Given the description of an element on the screen output the (x, y) to click on. 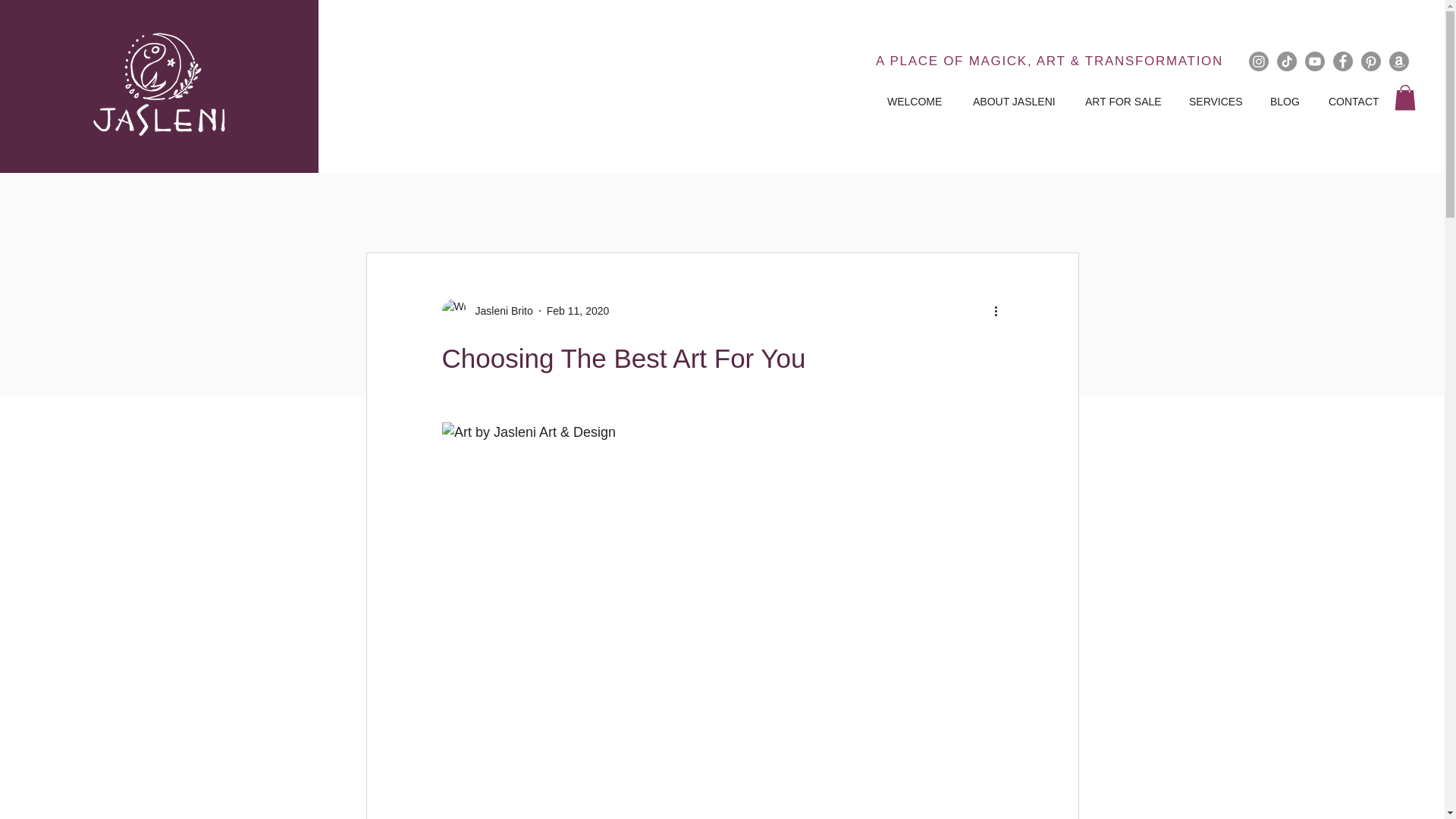
Jasleni Brito (486, 310)
ABOUT JASLENI (1017, 101)
Feb 11, 2020 (578, 310)
WELCOME (918, 101)
BLOG (1288, 101)
Jasleni Brito (498, 311)
CONTACT (1357, 101)
